Given the description of an element on the screen output the (x, y) to click on. 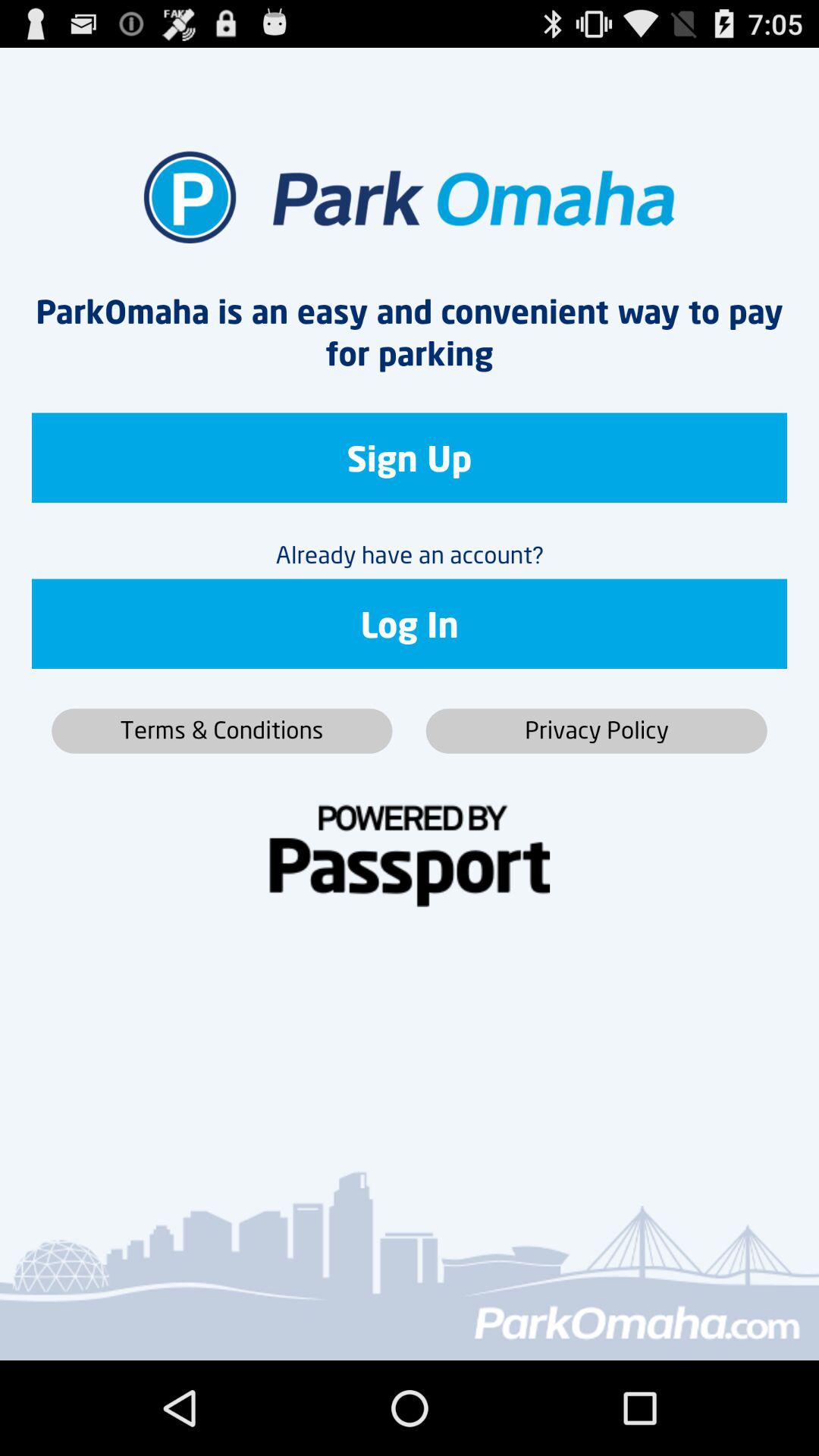
launch button below log in (221, 730)
